Given the description of an element on the screen output the (x, y) to click on. 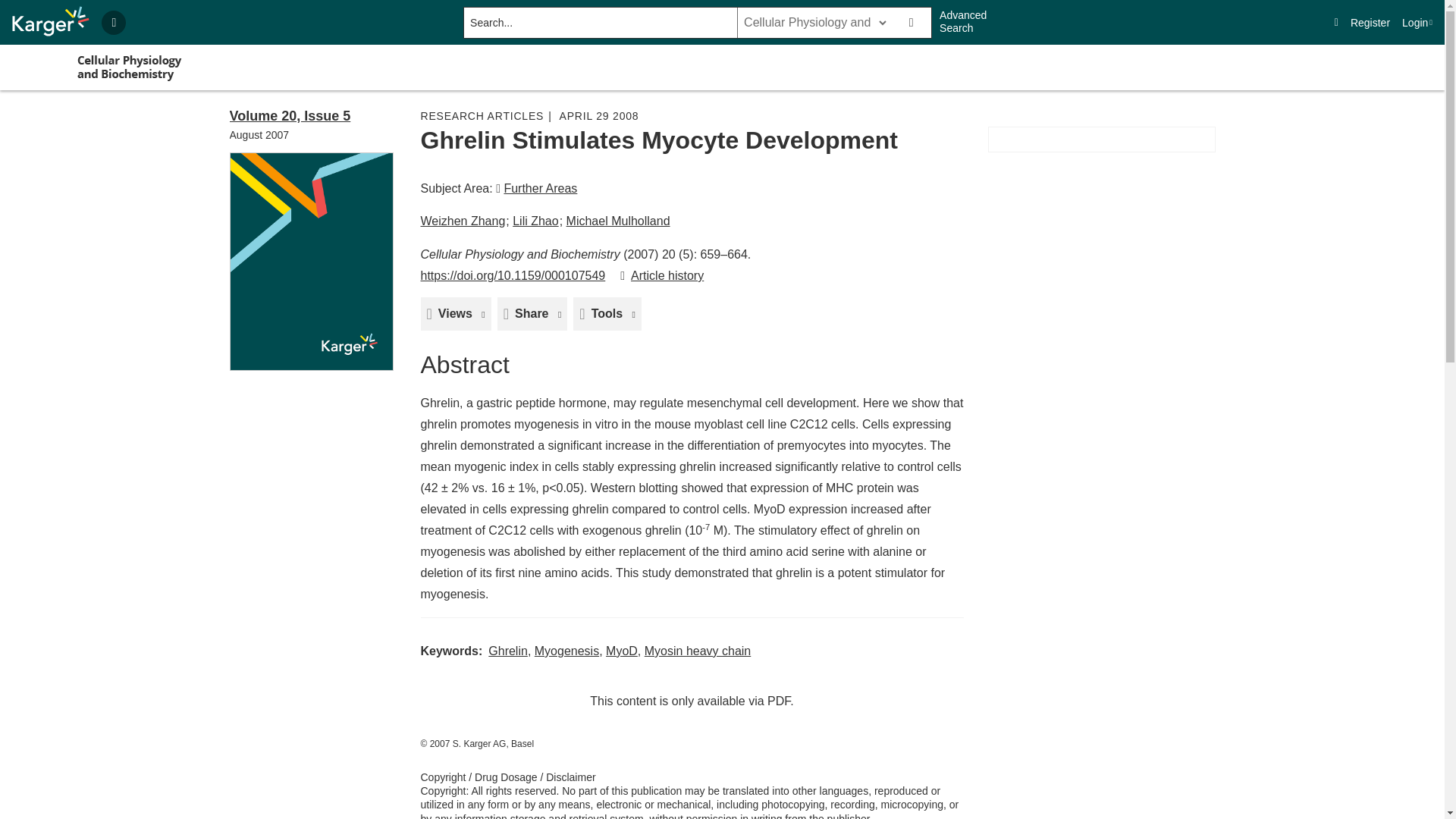
search input (598, 22)
